Given the description of an element on the screen output the (x, y) to click on. 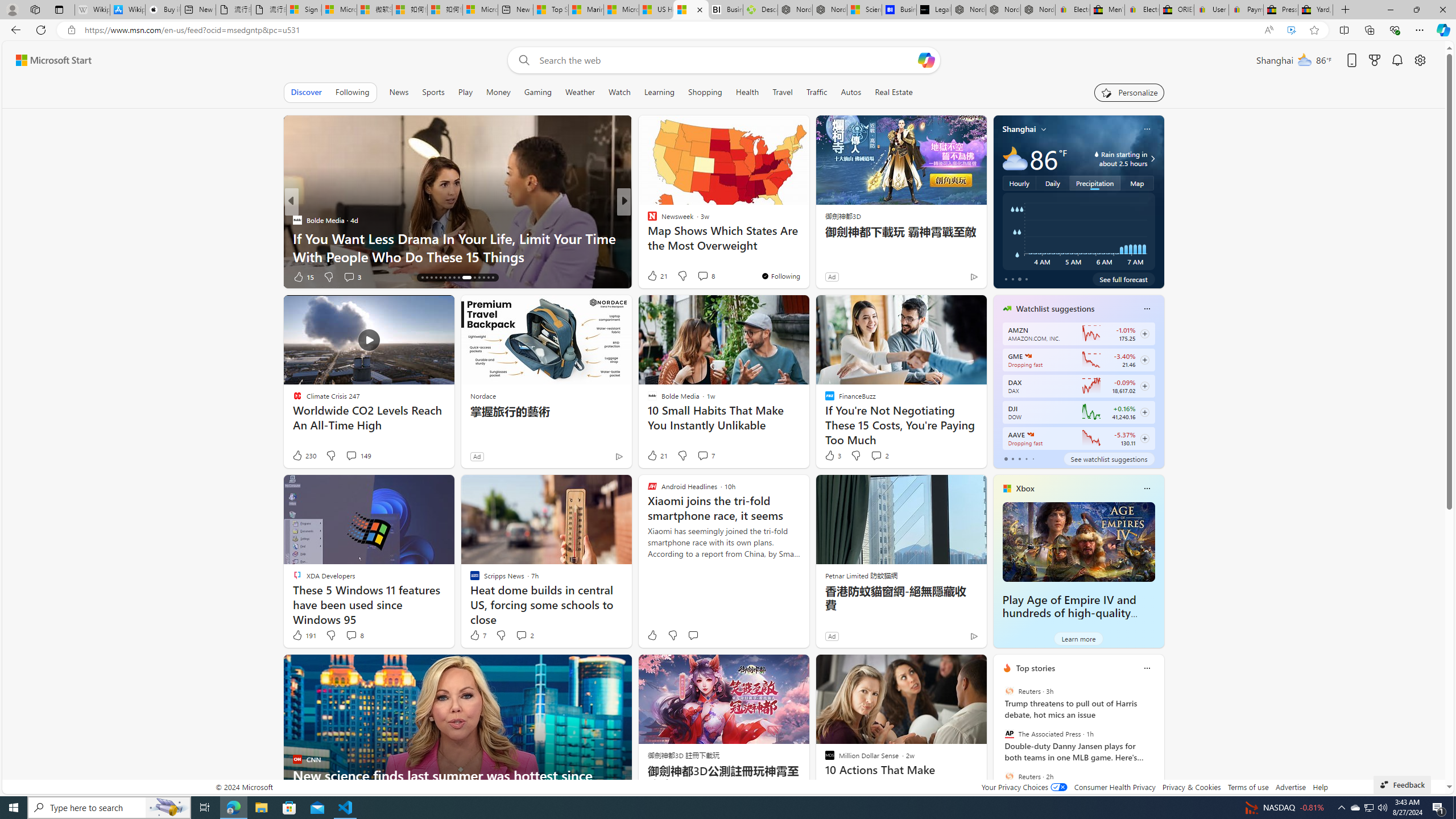
View comments 7 Comment (703, 455)
You're following MSNBC (949, 279)
MSNBC (647, 219)
14 Like (652, 276)
21 Like (657, 455)
View comments 265 Comment (709, 276)
Watchlist suggestions (1055, 308)
water-drop-icon (1096, 154)
